Given the description of an element on the screen output the (x, y) to click on. 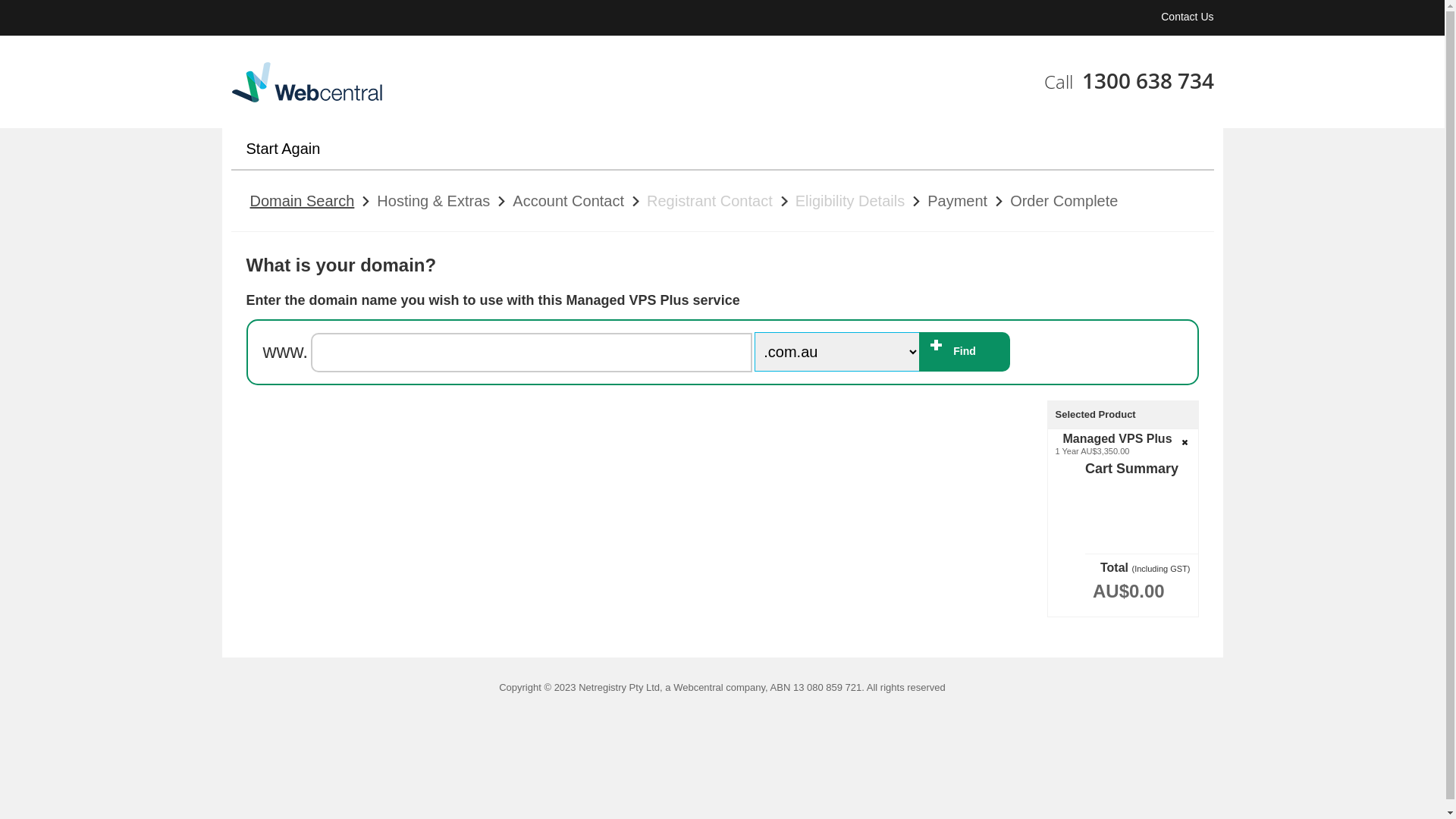
Contact Us Element type: text (1187, 16)
Find Element type: text (964, 351)
Start Again Element type: text (288, 148)
Domain Search Element type: text (302, 200)
